Given the description of an element on the screen output the (x, y) to click on. 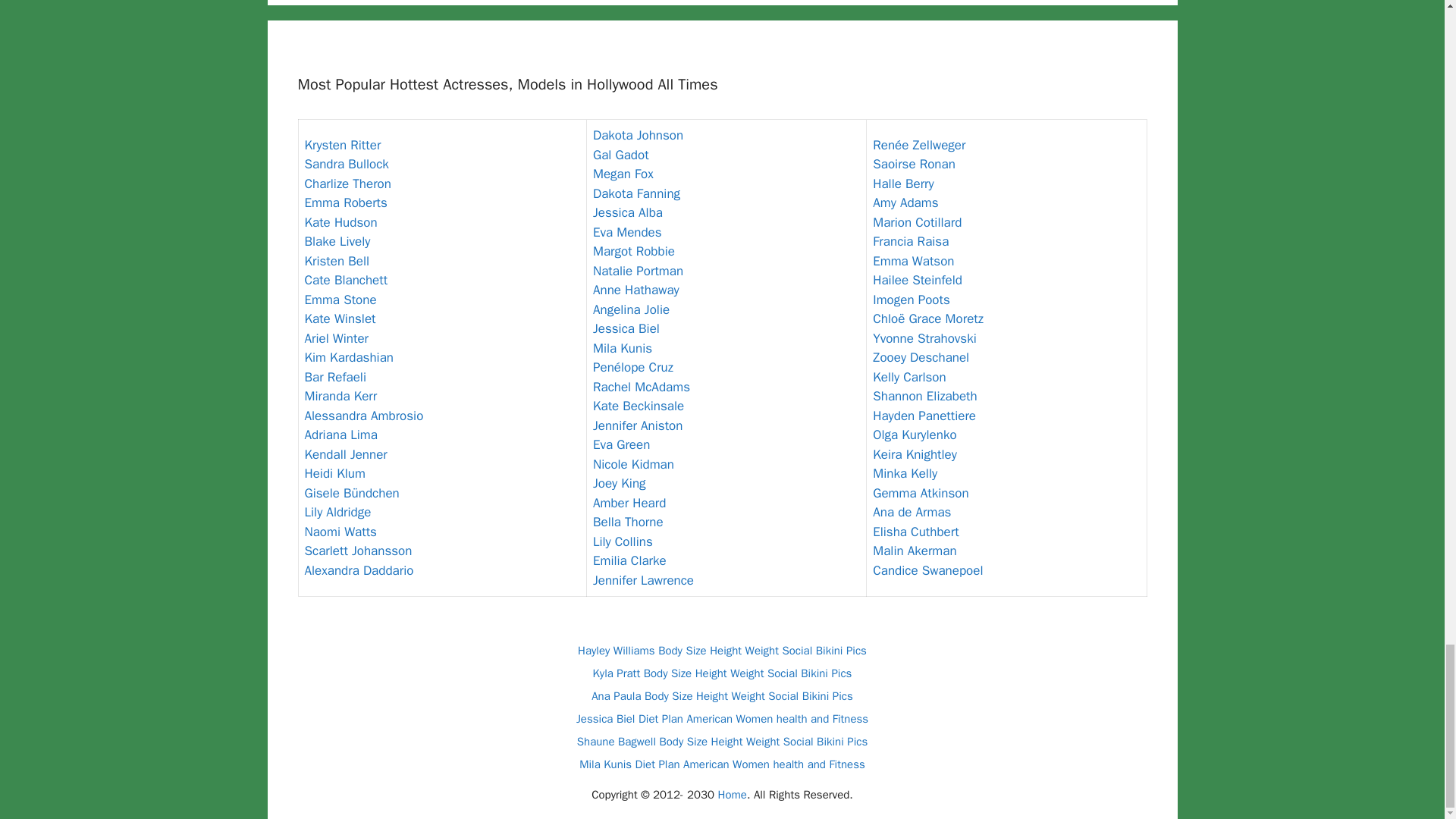
Sandra Bullock (346, 163)
Blake Lively (337, 241)
Lily Aldridge (337, 512)
Kate Winslet (339, 318)
Kristen Bell (336, 261)
Kendall Jenner (345, 454)
Bar Refaeli (335, 376)
Emma Roberts (345, 202)
Naomi Watts (340, 531)
Kate Hudson (340, 222)
